Given the description of an element on the screen output the (x, y) to click on. 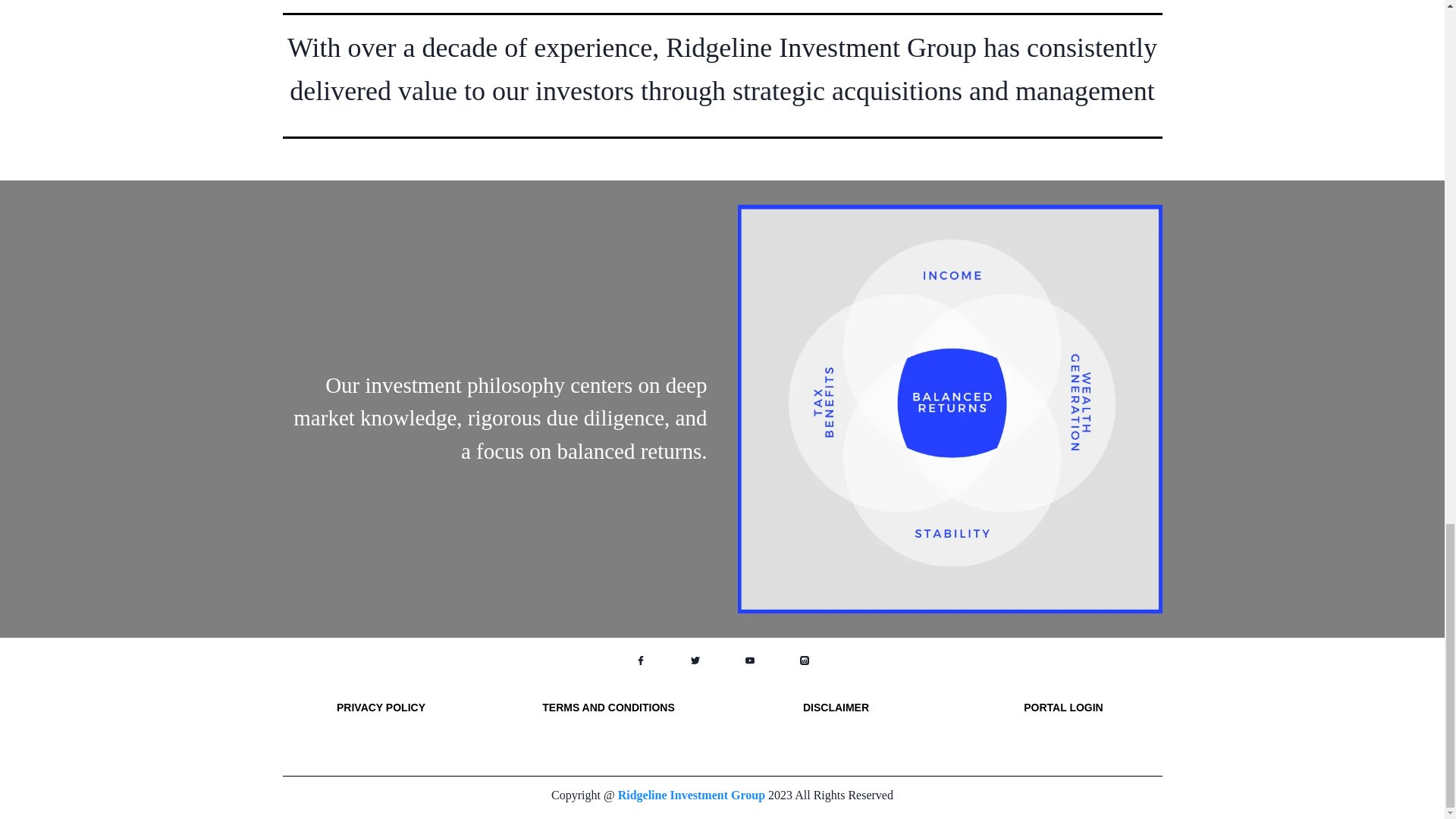
PRIVACY POLICY (380, 707)
DISCLAIMER (836, 707)
TERMS AND CONDITIONS (607, 707)
PORTAL LOGIN (1062, 707)
